Given the description of an element on the screen output the (x, y) to click on. 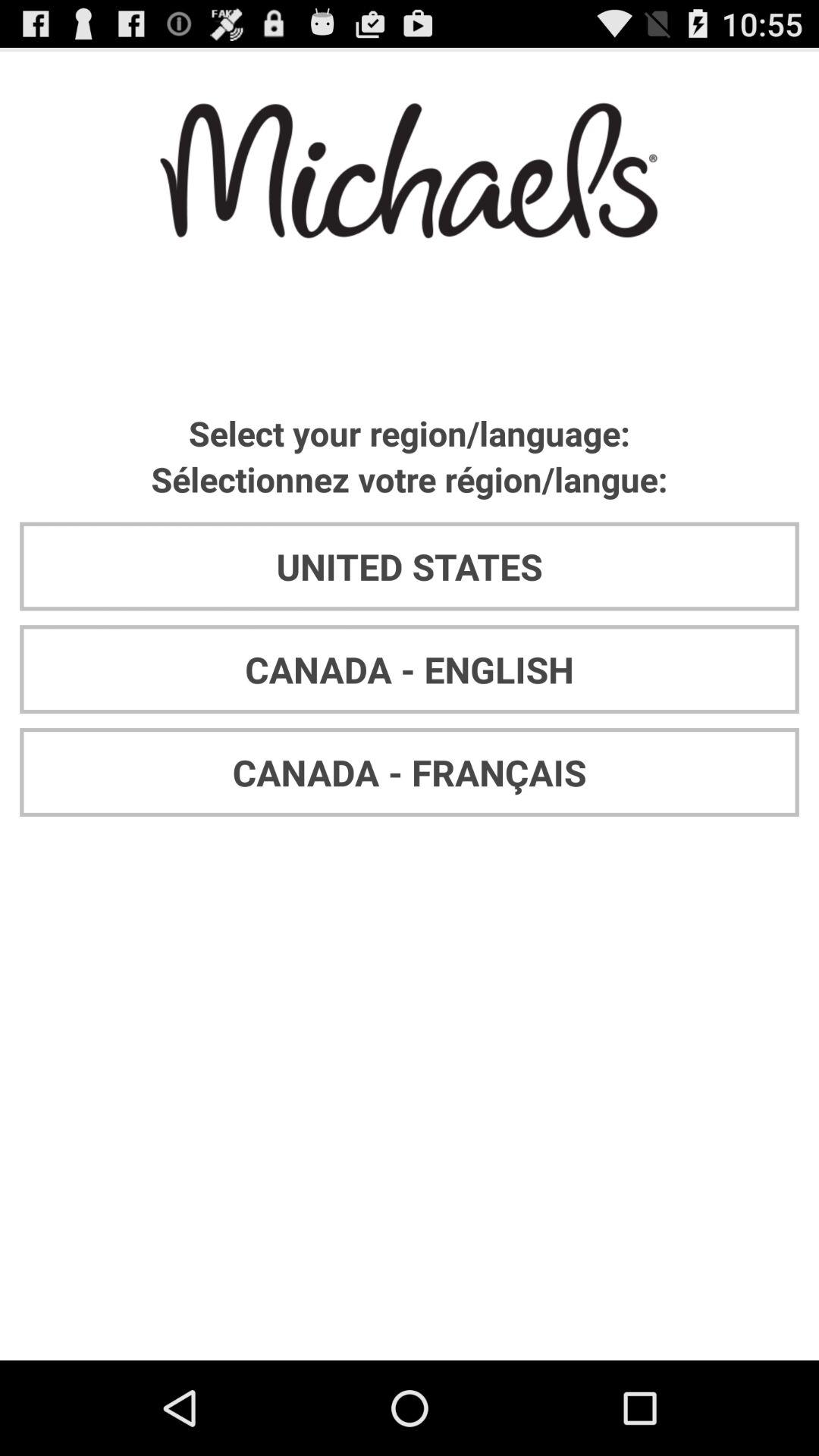
tap the united states item (409, 566)
